Given the description of an element on the screen output the (x, y) to click on. 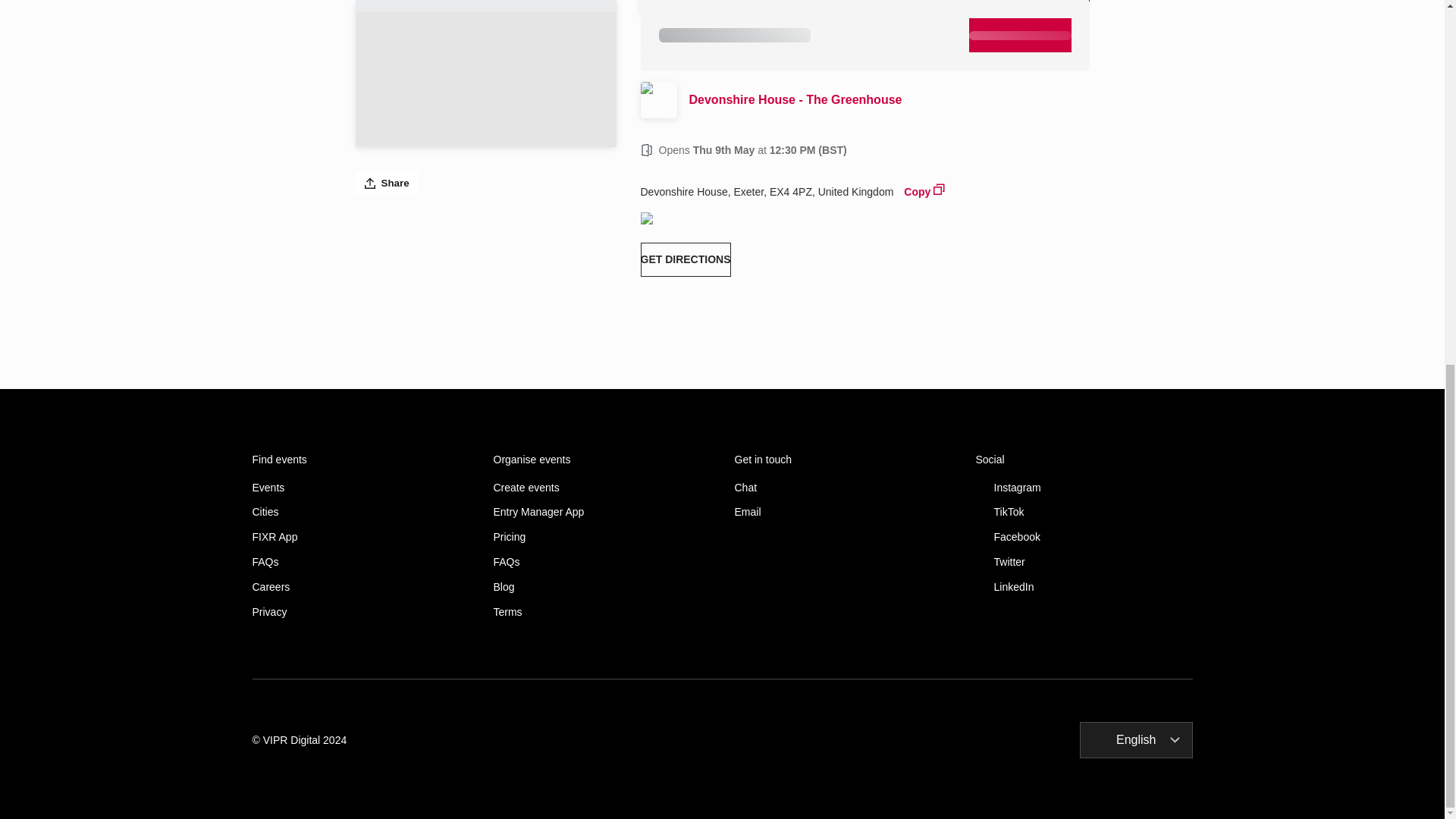
Copy (924, 190)
GET DIRECTIONS (685, 259)
Events (359, 487)
TikTok (1083, 512)
Email (841, 512)
Cities (359, 512)
Careers (359, 586)
Privacy (359, 612)
Terms (601, 612)
Facebook (1083, 536)
Pricing (601, 536)
FAQs (601, 562)
Create events (601, 487)
FAQs (359, 562)
Chat (841, 487)
